Given the description of an element on the screen output the (x, y) to click on. 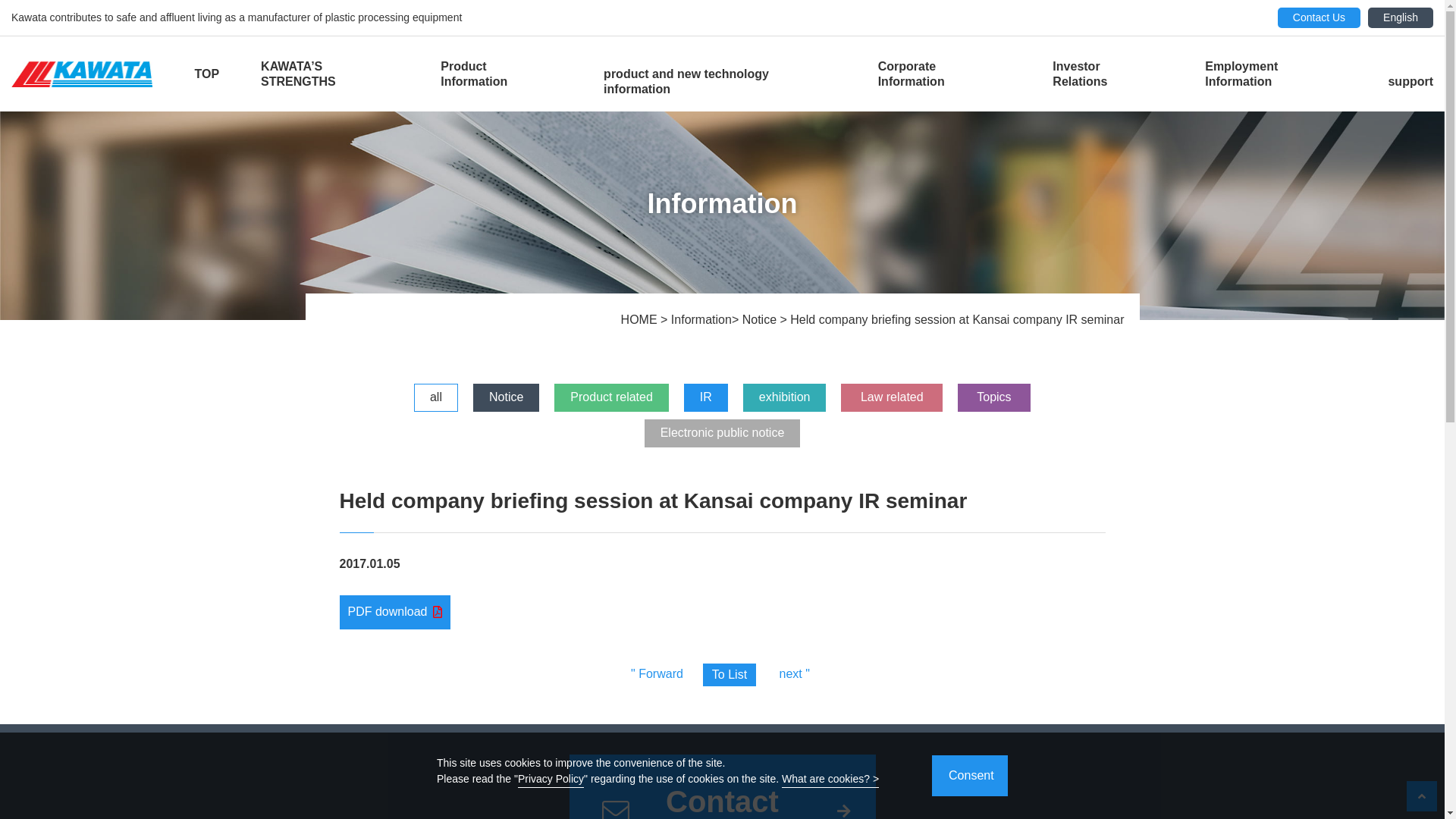
TOP Element type: text (206, 73)
 Topics  Element type: text (993, 397)
Notice Element type: text (761, 319)
What are cookies? > Element type: text (829, 779)
 Law related  Element type: text (891, 397)
To List Element type: text (729, 674)
IR Element type: text (706, 397)
Corporate Information   Element type: text (944, 73)
Contact Us Element type: text (1318, 17)
Investor Relations   Element type: text (1107, 73)
Product Information   Element type: text (500, 73)
Electronic public notice Element type: text (722, 433)
" Forward Element type: text (656, 673)
product and new technology information Element type: text (719, 81)
Privacy Policy Element type: text (550, 779)
next " Element type: text (794, 673)
exhibition Element type: text (784, 397)
all Element type: text (436, 397)
Product related Element type: text (611, 397)
HOME Element type: text (640, 319)
Information Element type: text (701, 319)
PDF download Element type: text (395, 611)
Employment Information Element type: text (1275, 73)
Notice Element type: text (506, 397)
support Element type: text (1410, 81)
